Given the description of an element on the screen output the (x, y) to click on. 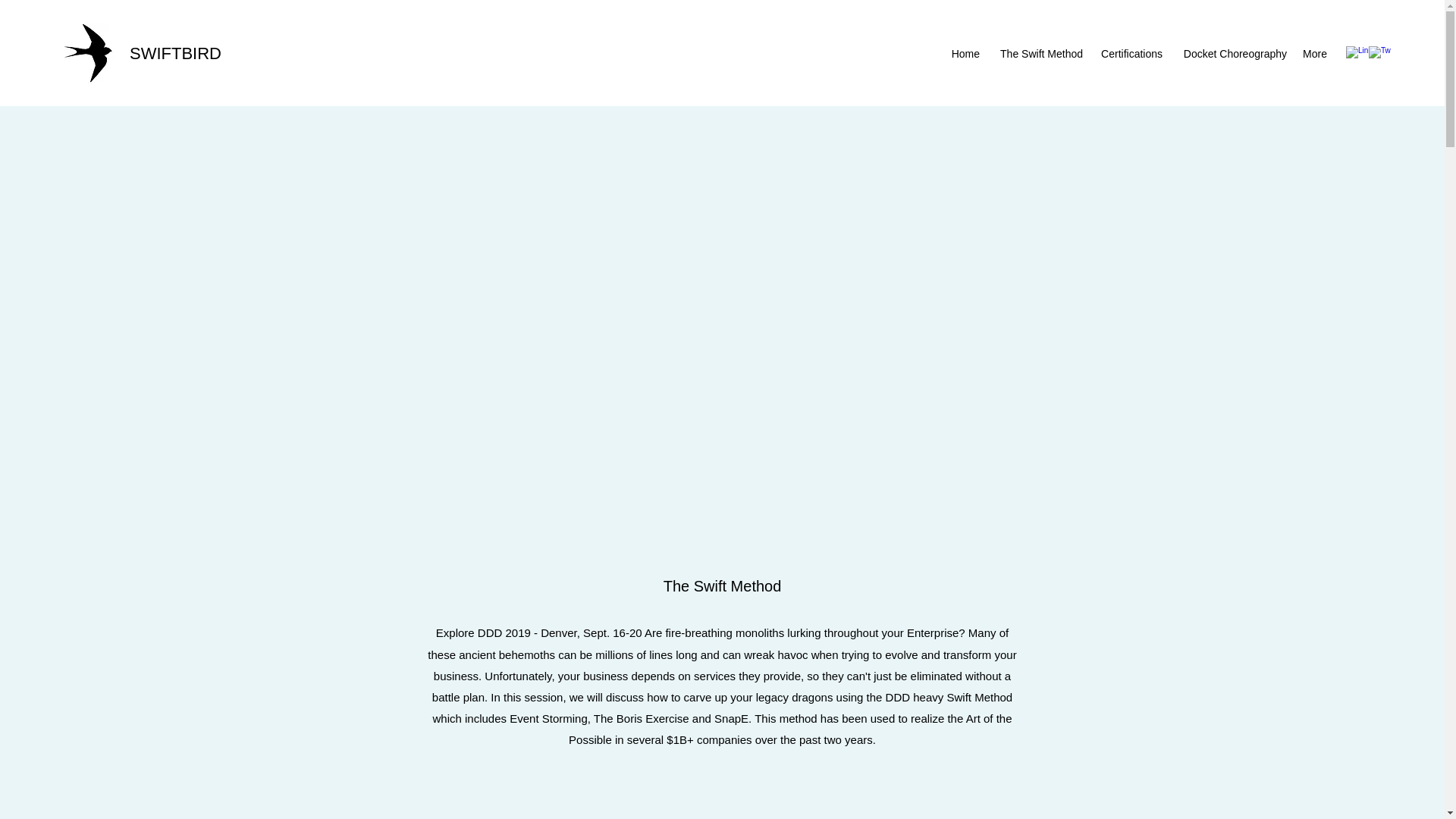
Home (964, 53)
Certifications (1130, 53)
Docket Choreography (1232, 53)
The Swift Method (1038, 53)
